Given the description of an element on the screen output the (x, y) to click on. 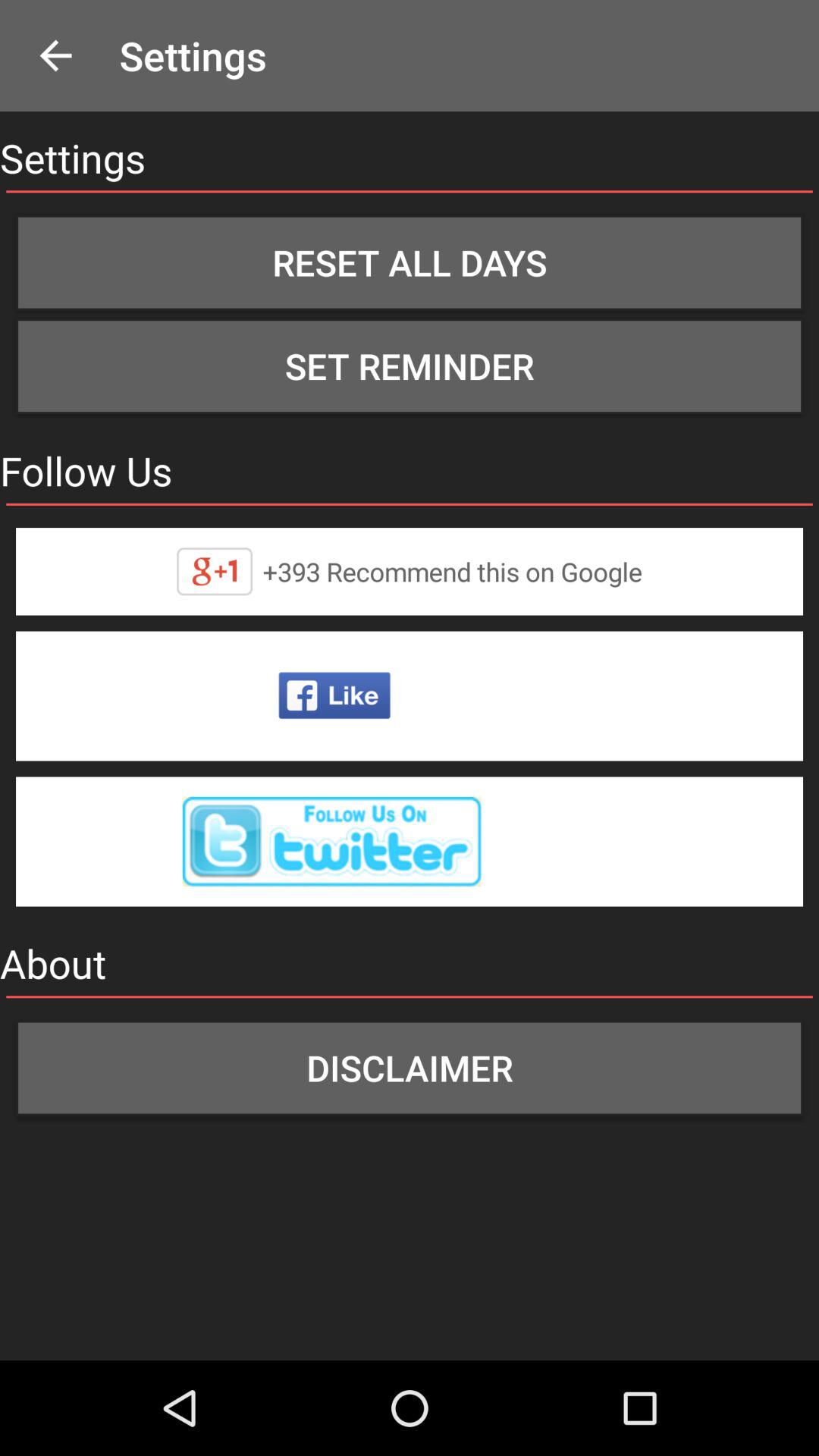
choose disclaimer (409, 1067)
